Given the description of an element on the screen output the (x, y) to click on. 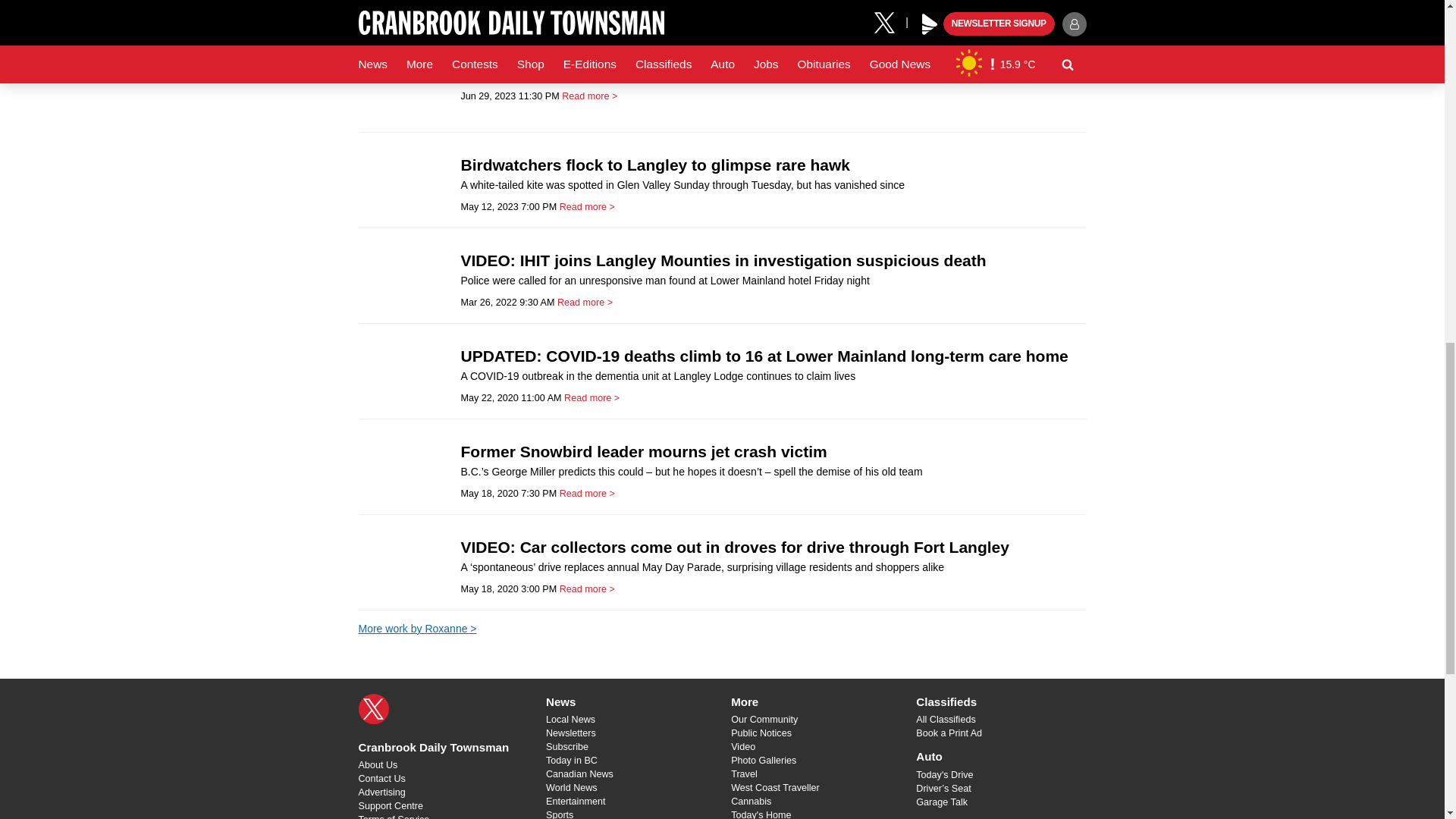
X (373, 708)
